Given the description of an element on the screen output the (x, y) to click on. 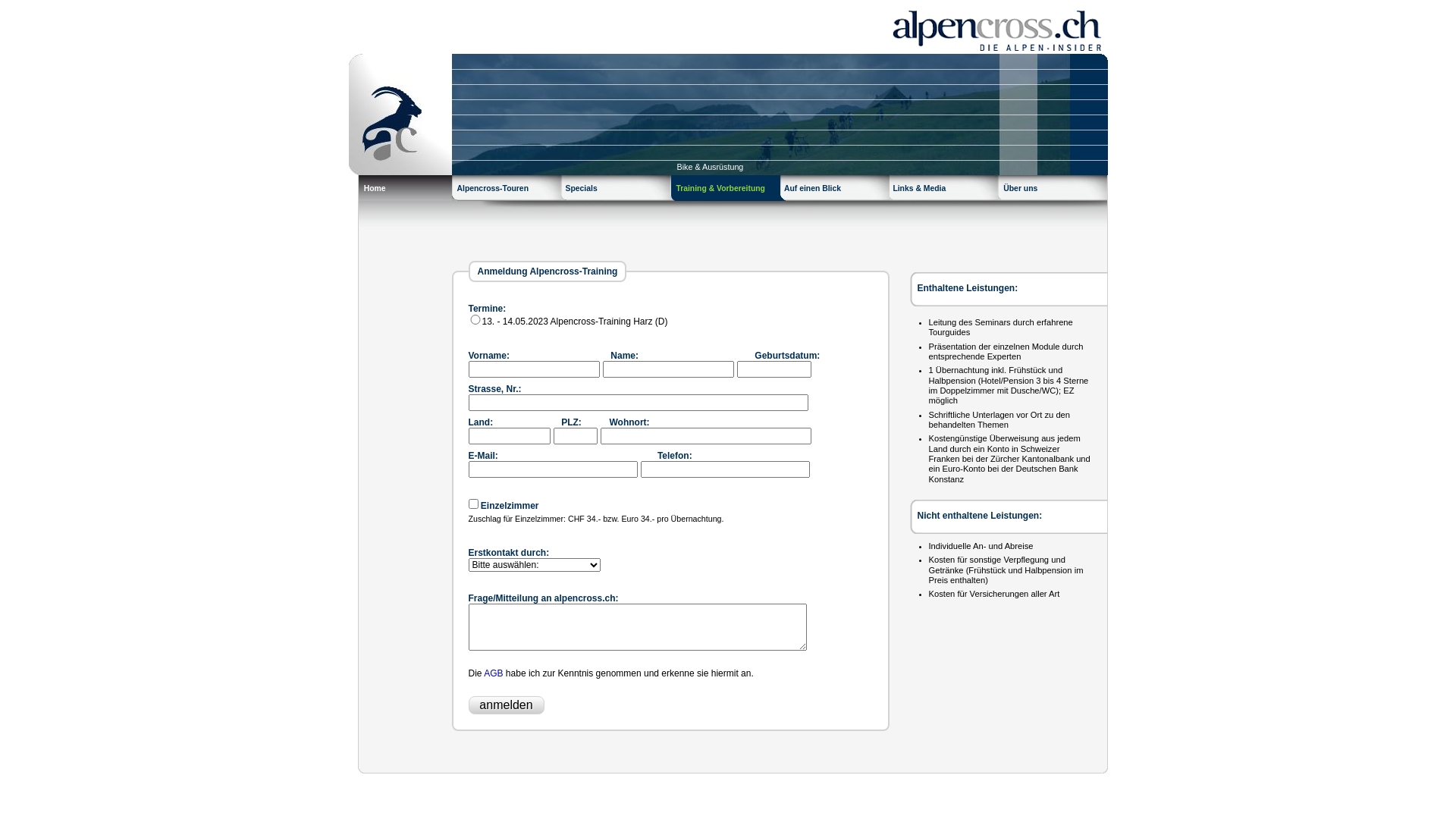
Specials Element type: text (619, 190)
Mountainbike - Transalp - Alpencross - organisierte Touren Element type: hover (727, 26)
       Home Element type: text (402, 190)
Alpencross-Touren Element type: text (510, 190)
 Auf einen Blick Element type: text (836, 190)
 Links & Media Element type: text (944, 190)
 Training & Vorbereitung Element type: text (727, 191)
AGB Element type: text (492, 673)
anmelden Element type: text (506, 705)
